Given the description of an element on the screen output the (x, y) to click on. 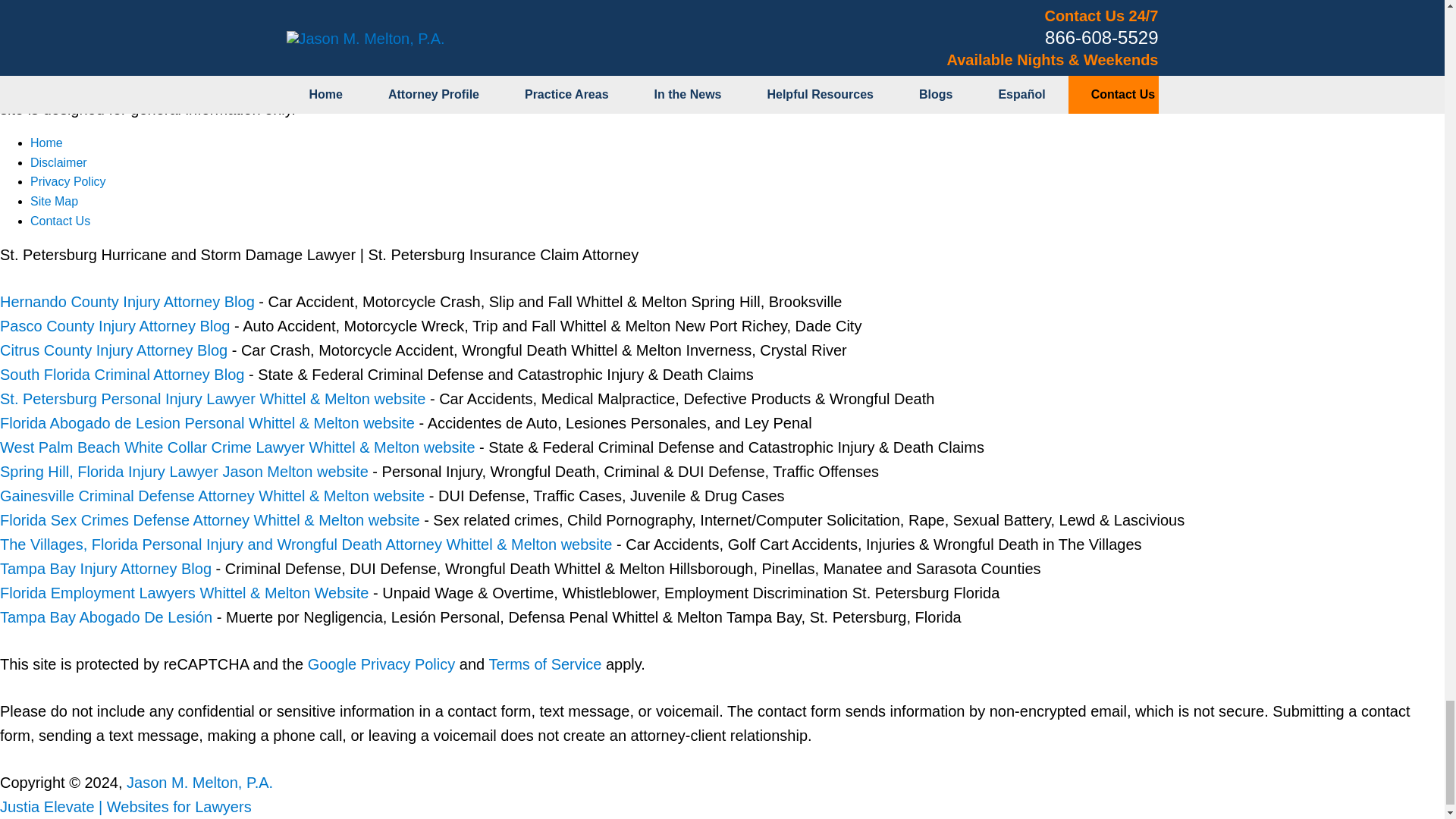
Facebook (58, 60)
Twitter (162, 60)
Justia (359, 60)
Instagram (460, 60)
Linkedin (262, 60)
